Given the description of an element on the screen output the (x, y) to click on. 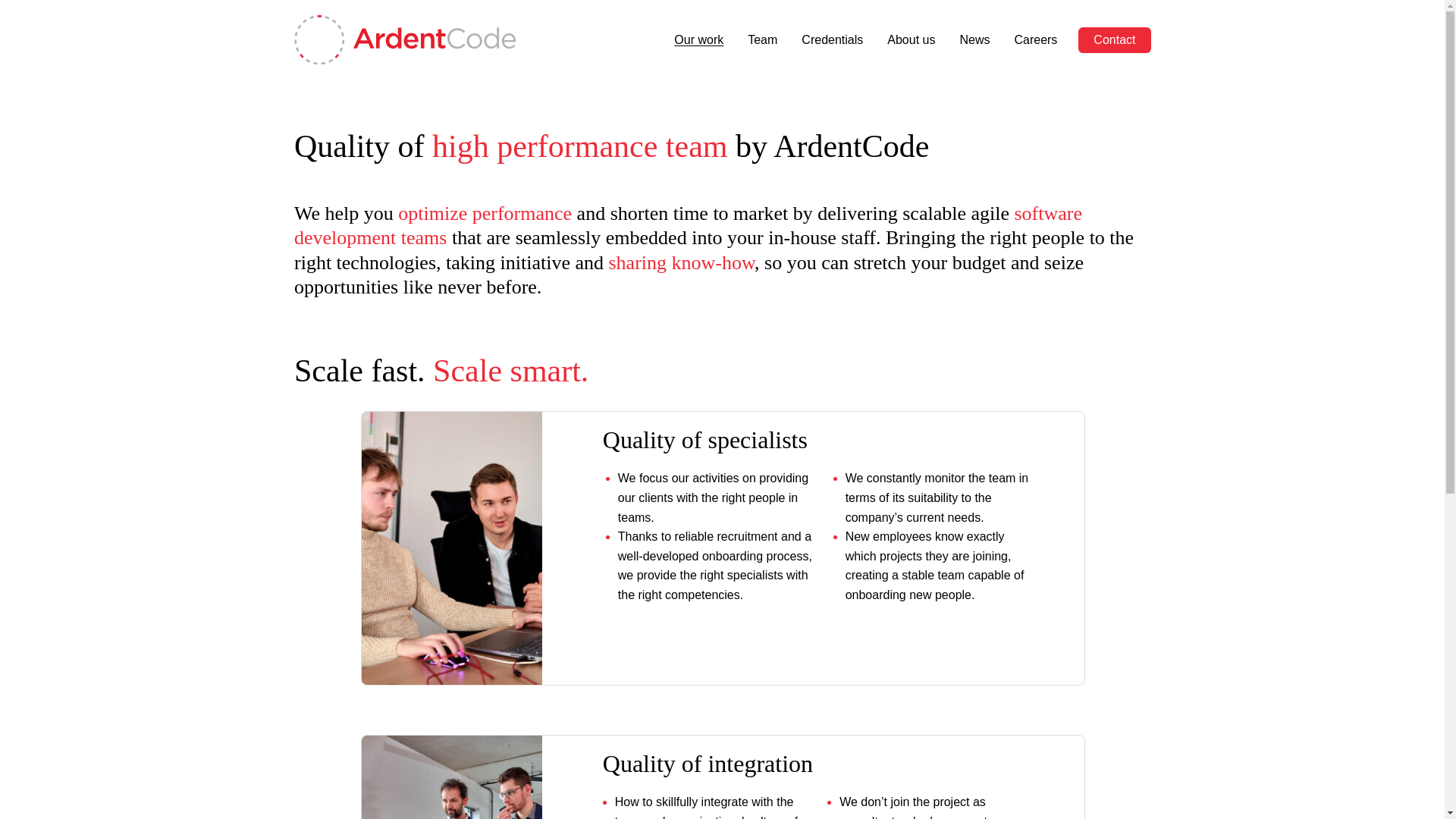
Contact (1114, 40)
Careers (1034, 39)
About us (910, 39)
Our work (698, 39)
Credentials (831, 39)
News (974, 39)
Team (762, 39)
